Given the description of an element on the screen output the (x, y) to click on. 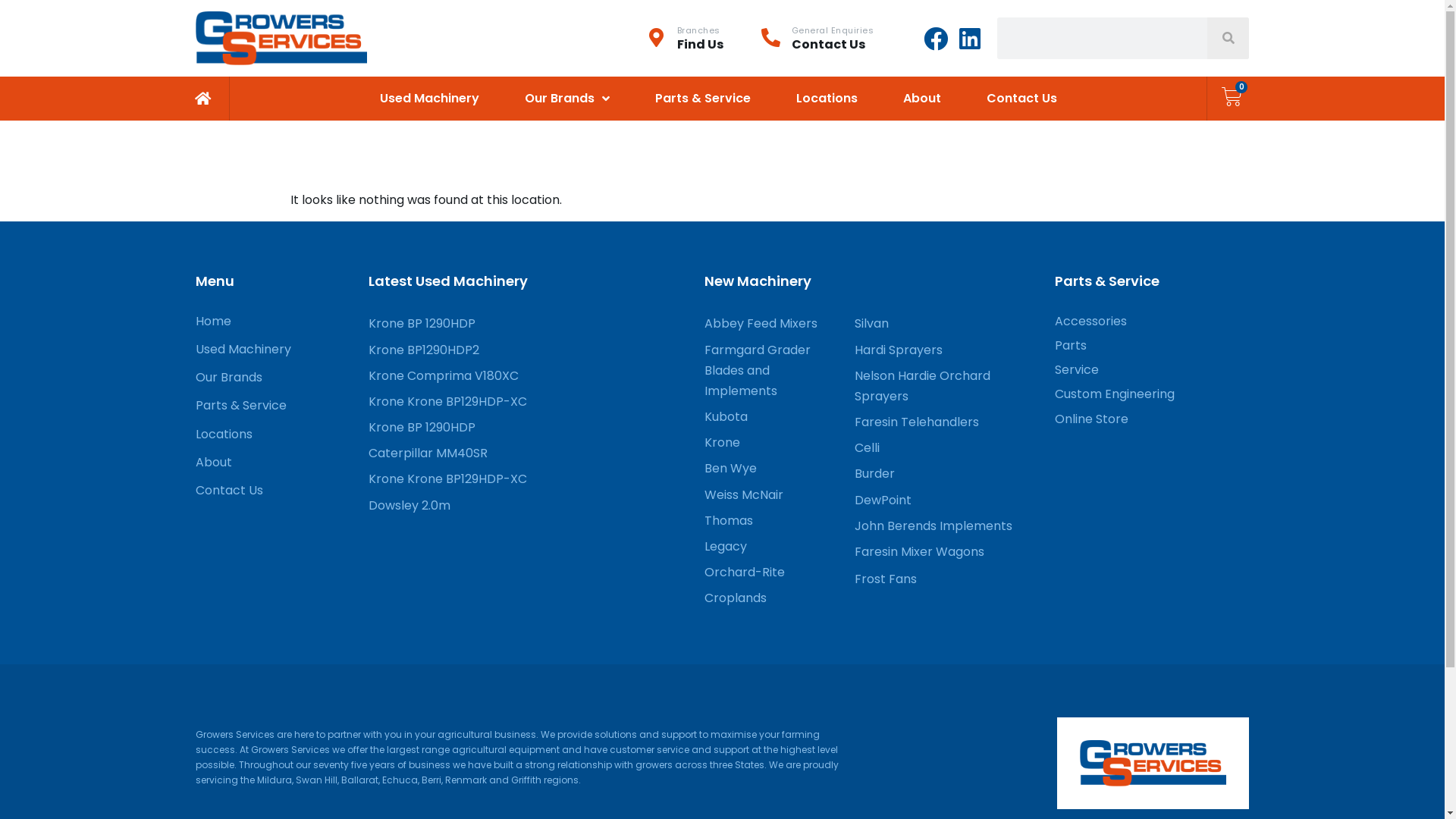
Krone Krone BP129HDP-XC Element type: text (528, 478)
Parts & Service Element type: text (274, 405)
Croplands Element type: text (767, 597)
About Element type: text (921, 97)
Burder Element type: text (946, 473)
Service Element type: text (1151, 369)
Orchard-Rite Element type: text (767, 571)
0 Element type: text (1231, 96)
Used Machinery Element type: text (429, 97)
Online Store Element type: text (1151, 418)
Farmgard Grader Blades and Implements Element type: text (767, 370)
Locations Element type: text (274, 433)
Our Brands Element type: text (274, 377)
Weiss McNair Element type: text (767, 494)
Used Machinery Element type: text (274, 348)
Custom Engineering Element type: text (1151, 393)
Nelson Hardie Orchard Sprayers Element type: text (946, 385)
Krone Comprima V180XC Element type: text (528, 375)
Kubota Element type: text (767, 416)
Faresin Mixer Wagons Element type: text (946, 551)
Hardi Sprayers Element type: text (946, 349)
Parts & Service Element type: text (702, 97)
Dowsley 2.0m Element type: text (528, 505)
Legacy Element type: text (767, 546)
Krone BP 1290HDP Element type: text (528, 427)
Krone BP1290HDP2 Element type: text (528, 349)
Home Element type: text (274, 320)
Locations Element type: text (826, 97)
Ben Wye Element type: text (767, 468)
Krone BP 1290HDP Element type: text (528, 323)
Parts Element type: text (1151, 345)
Frost Fans Element type: text (946, 578)
Faresin Telehandlers Element type: text (946, 421)
Krone Element type: text (767, 442)
John Berends Implements Element type: text (946, 525)
Contact Us Element type: text (1021, 97)
Celli Element type: text (946, 447)
Our Brands Element type: text (567, 97)
Caterpillar MM40SR Element type: text (528, 452)
Krone Krone BP129HDP-XC Element type: text (528, 401)
Silvan Element type: text (946, 323)
DewPoint Element type: text (946, 499)
About Element type: text (274, 461)
Abbey Feed Mixers Element type: text (767, 323)
Thomas Element type: text (767, 520)
Accessories Element type: text (1151, 320)
Contact Us Element type: text (274, 490)
